Given the description of an element on the screen output the (x, y) to click on. 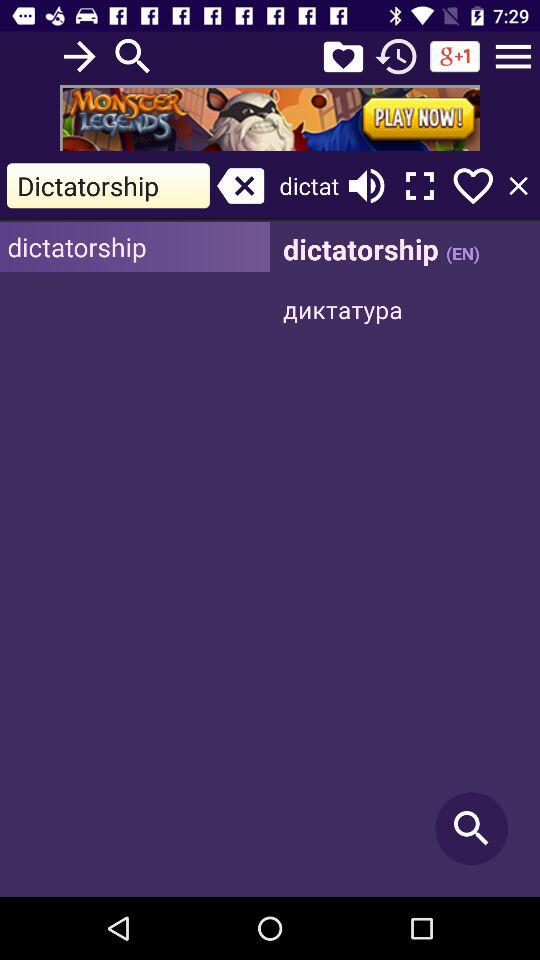
go to like (473, 185)
